Given the description of an element on the screen output the (x, y) to click on. 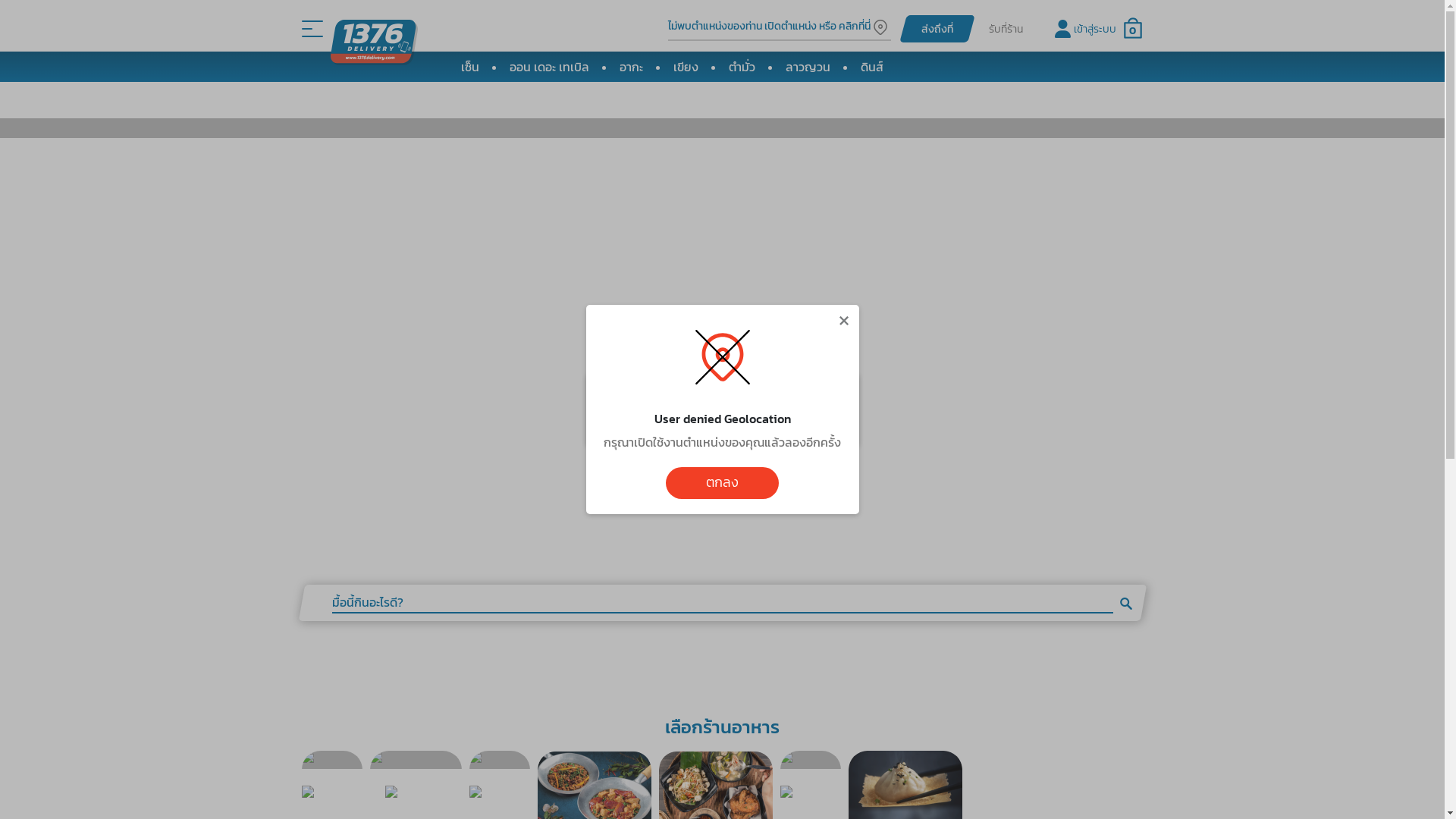
1376Delivery.com Element type: hover (370, 27)
0 Element type: text (1132, 28)
